Given the description of an element on the screen output the (x, y) to click on. 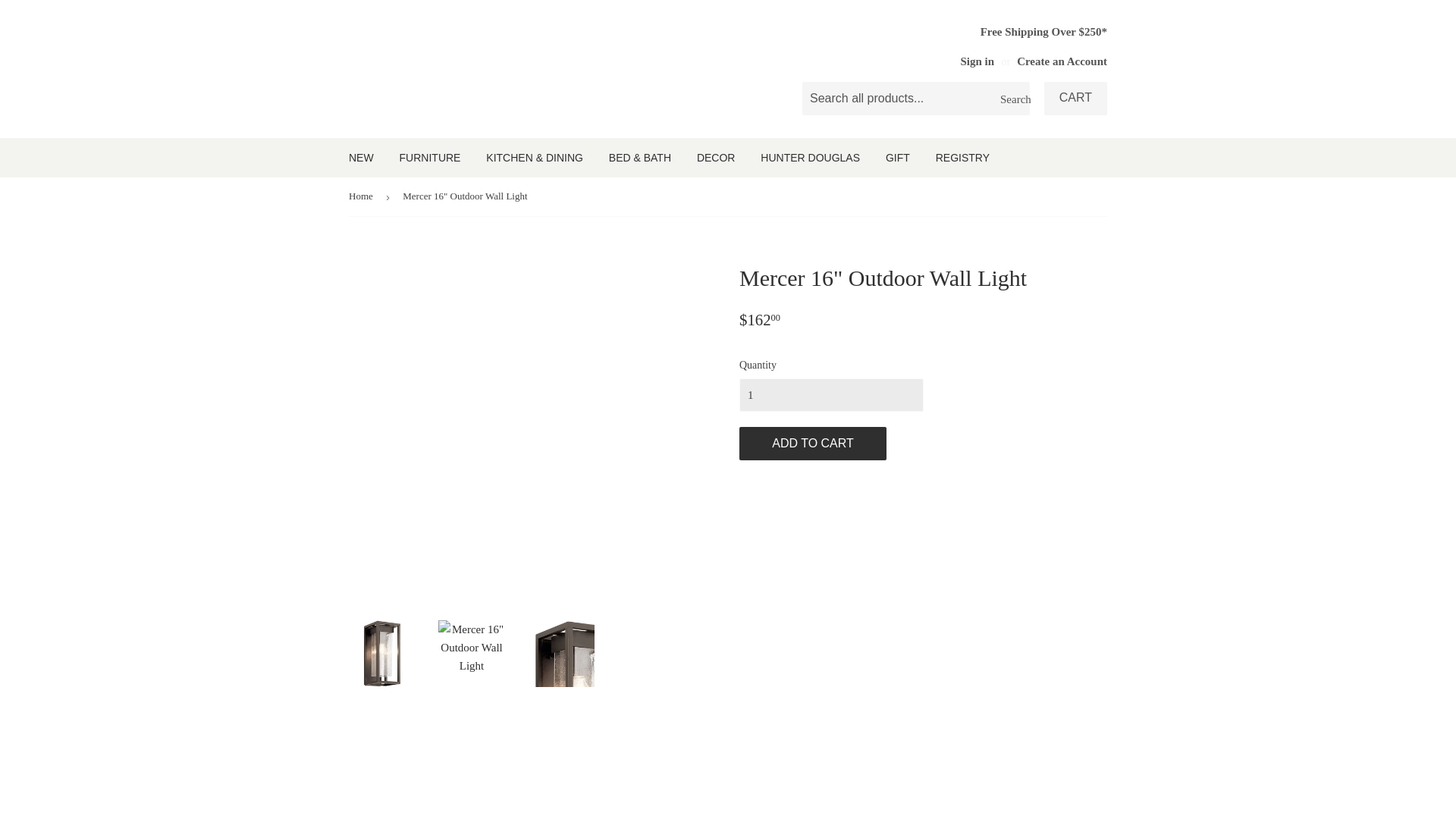
Create an Account (1061, 61)
1 (831, 394)
Sign in (976, 61)
CART (1074, 98)
Search (1012, 99)
